Given the description of an element on the screen output the (x, y) to click on. 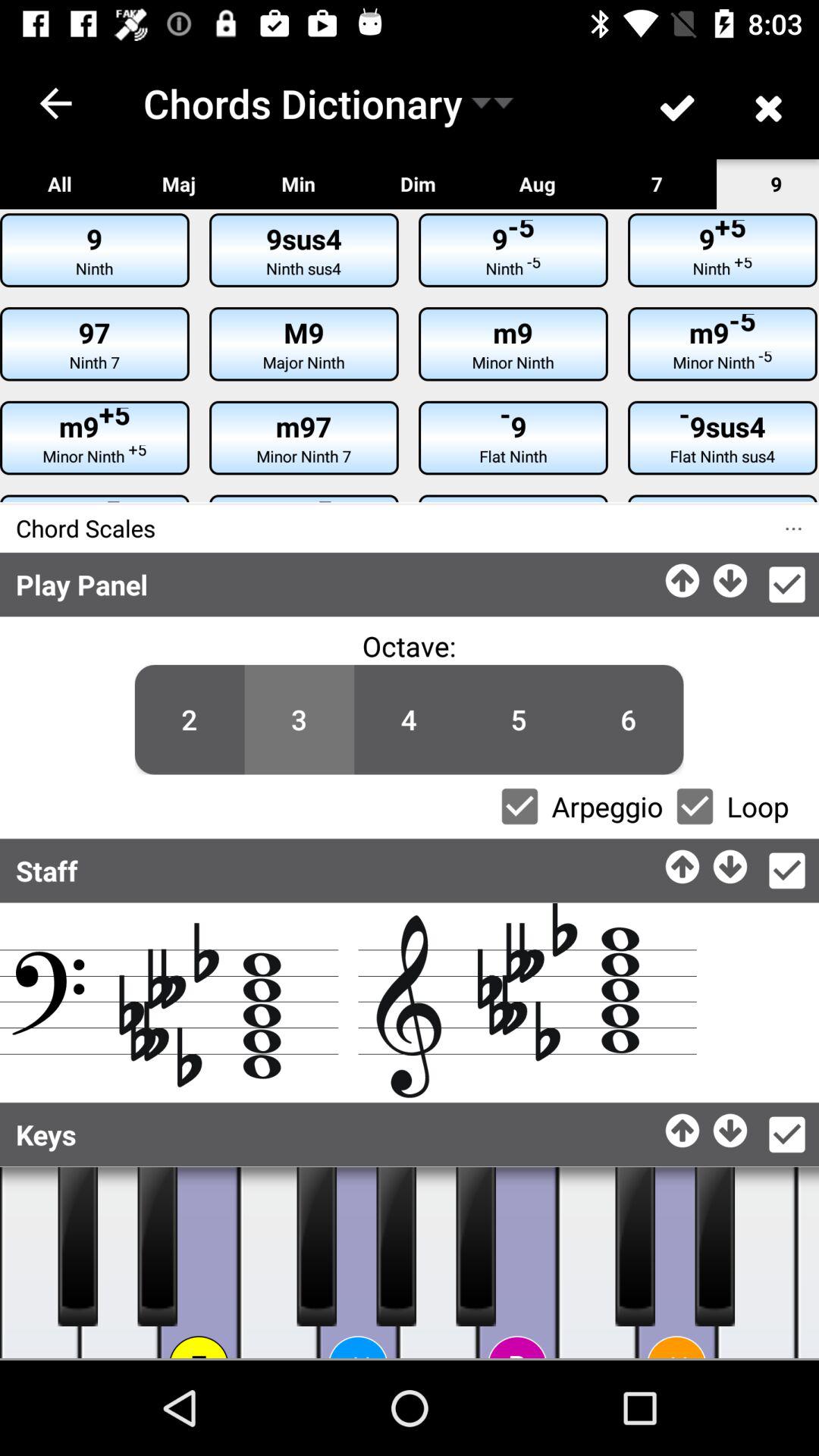
upload (683, 862)
